Given the description of an element on the screen output the (x, y) to click on. 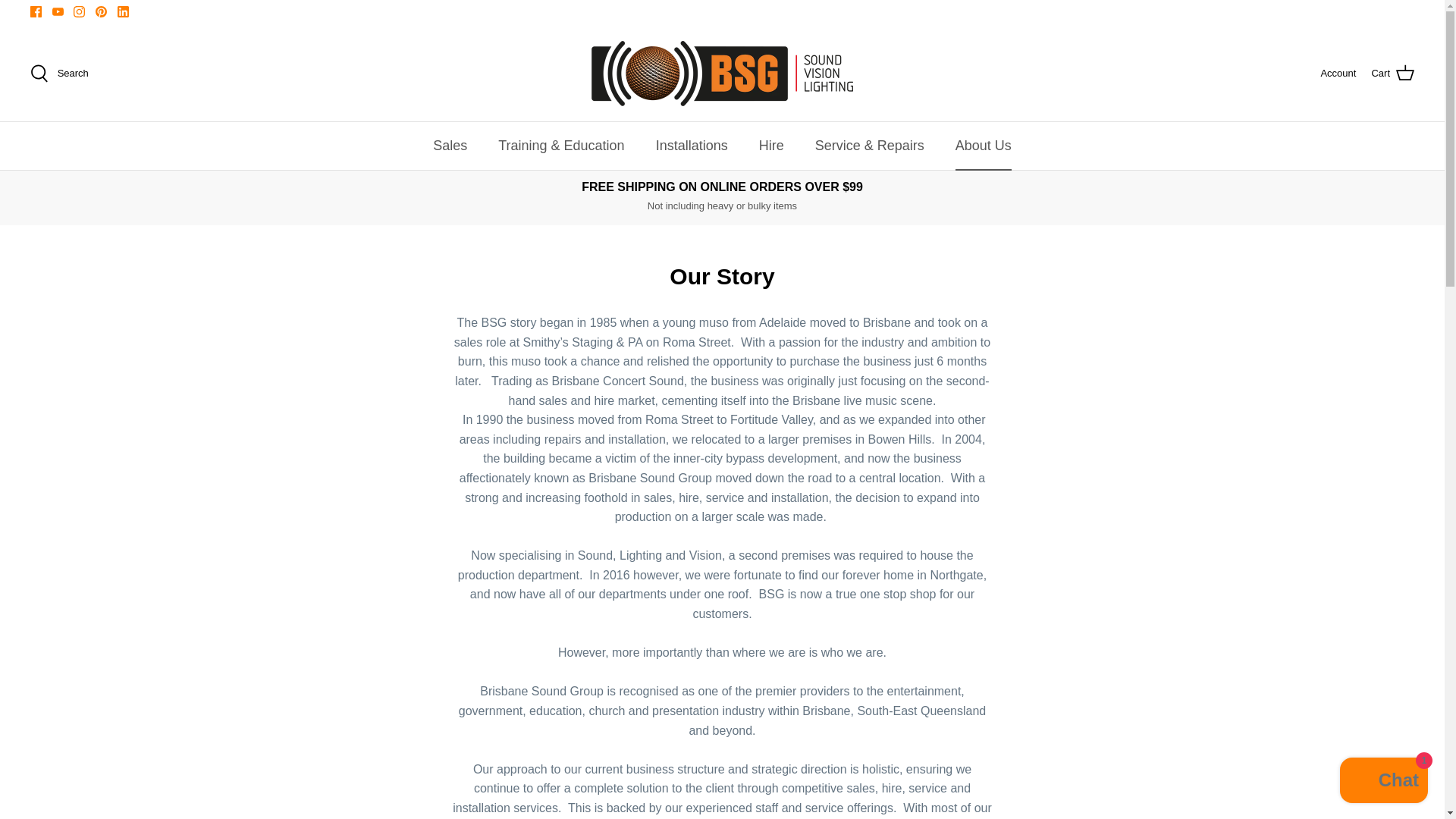
Search (59, 73)
Sales (449, 145)
About Us (983, 145)
Instagram (79, 11)
Hire (771, 145)
Brisbane Sound Group (722, 73)
Pinterest (101, 11)
Pinterest (101, 11)
Youtube (58, 11)
Youtube (58, 11)
Facebook (36, 11)
Account (1337, 73)
Cart (1392, 73)
Installations (691, 145)
Instagram (79, 11)
